Given the description of an element on the screen output the (x, y) to click on. 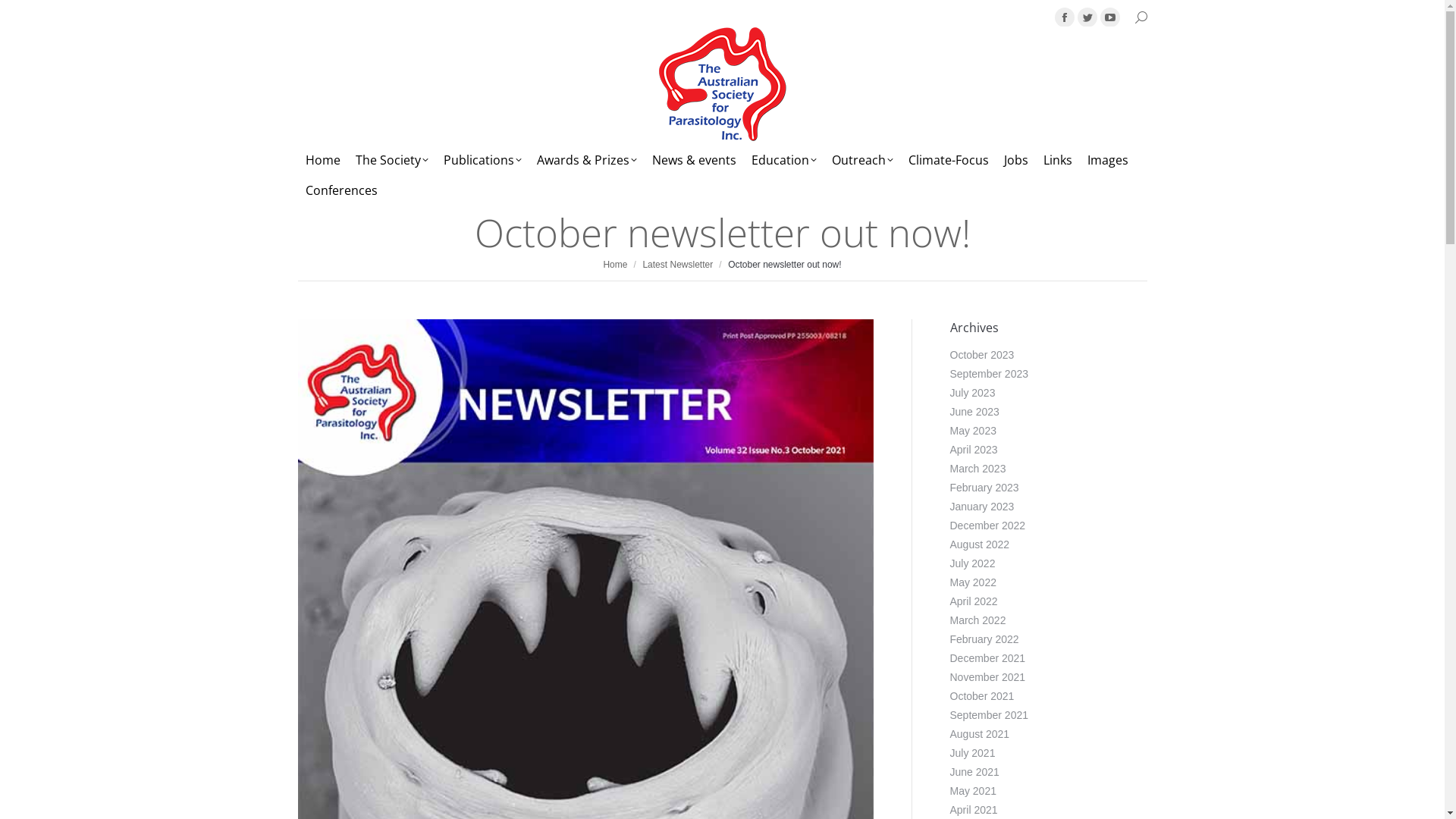
The Society Element type: text (391, 159)
July 2023 Element type: text (971, 392)
May 2022 Element type: text (972, 581)
May 2023 Element type: text (972, 430)
June 2023 Element type: text (973, 411)
Home Element type: text (322, 159)
September 2023 Element type: text (988, 373)
April 2021 Element type: text (973, 809)
News & events Element type: text (693, 159)
August 2022 Element type: text (979, 544)
April 2023 Element type: text (973, 449)
Go! Element type: text (22, 15)
August 2021 Element type: text (979, 733)
February 2022 Element type: text (983, 638)
November 2021 Element type: text (987, 676)
March 2022 Element type: text (977, 619)
YouTube page opens in new window Element type: text (1109, 17)
April 2022 Element type: text (973, 600)
Outreach Element type: text (861, 159)
July 2021 Element type: text (971, 752)
January 2023 Element type: text (981, 506)
Images Element type: text (1107, 159)
Home Element type: text (614, 264)
Twitter page opens in new window Element type: text (1086, 17)
December 2021 Element type: text (987, 657)
Education Element type: text (783, 159)
October 2023 Element type: text (981, 354)
Awards & Prizes Element type: text (586, 159)
Publications Element type: text (481, 159)
Links Element type: text (1057, 159)
May 2021 Element type: text (972, 790)
February 2023 Element type: text (983, 487)
September 2021 Element type: text (988, 714)
July 2022 Element type: text (971, 563)
Latest Newsletter Element type: text (677, 264)
Facebook page opens in new window Element type: text (1063, 17)
June 2021 Element type: text (973, 771)
December 2022 Element type: text (987, 525)
Climate-Focus Element type: text (948, 159)
March 2023 Element type: text (977, 468)
October 2021 Element type: text (981, 695)
Jobs Element type: text (1015, 159)
Conferences Element type: text (340, 189)
